Given the description of an element on the screen output the (x, y) to click on. 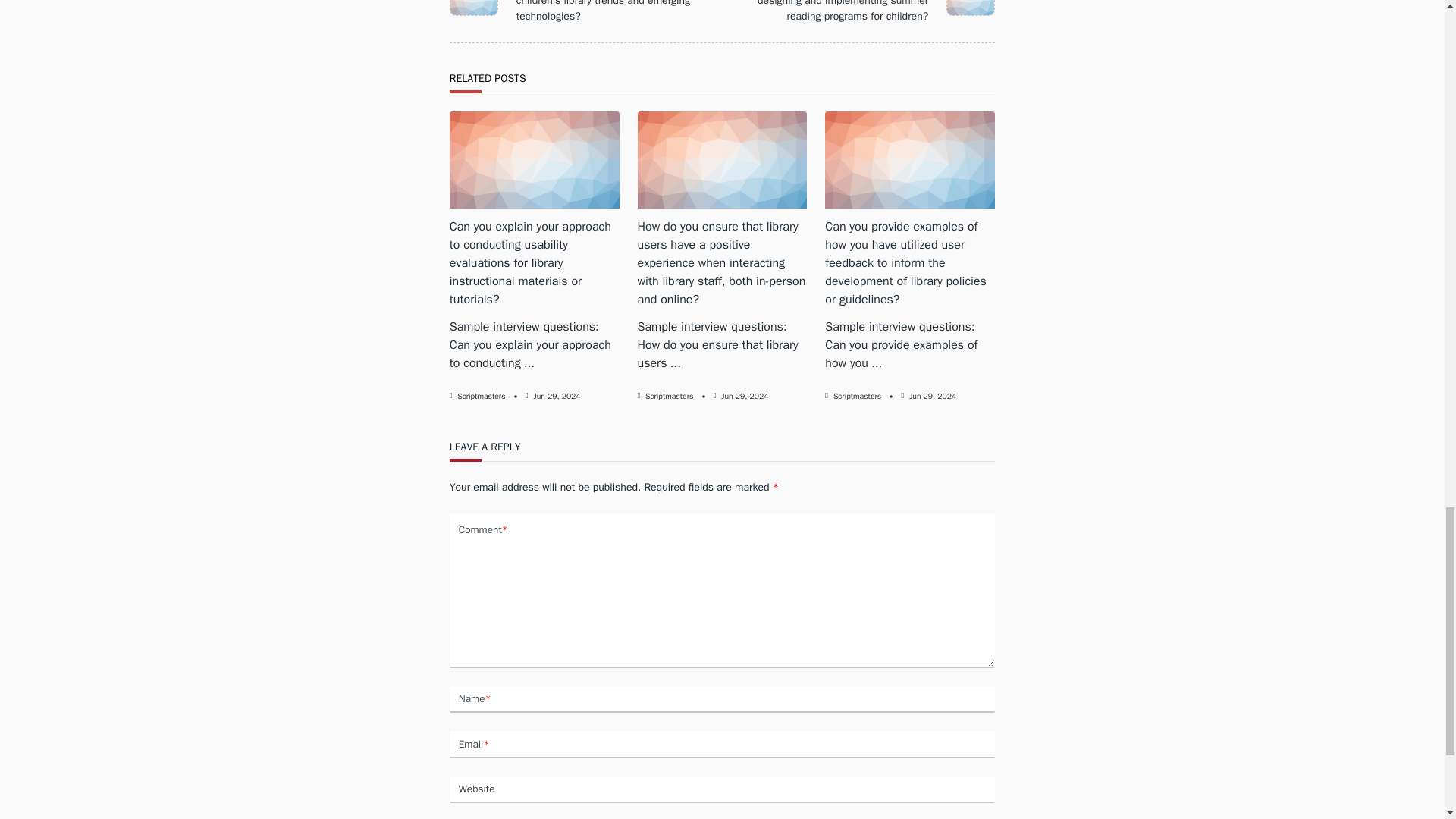
Scriptmasters (481, 396)
Jun 29, 2024 (557, 396)
Jun 29, 2024 (744, 396)
... (675, 363)
Scriptmasters (856, 396)
Scriptmasters (669, 396)
... (876, 363)
... (529, 363)
